Given the description of an element on the screen output the (x, y) to click on. 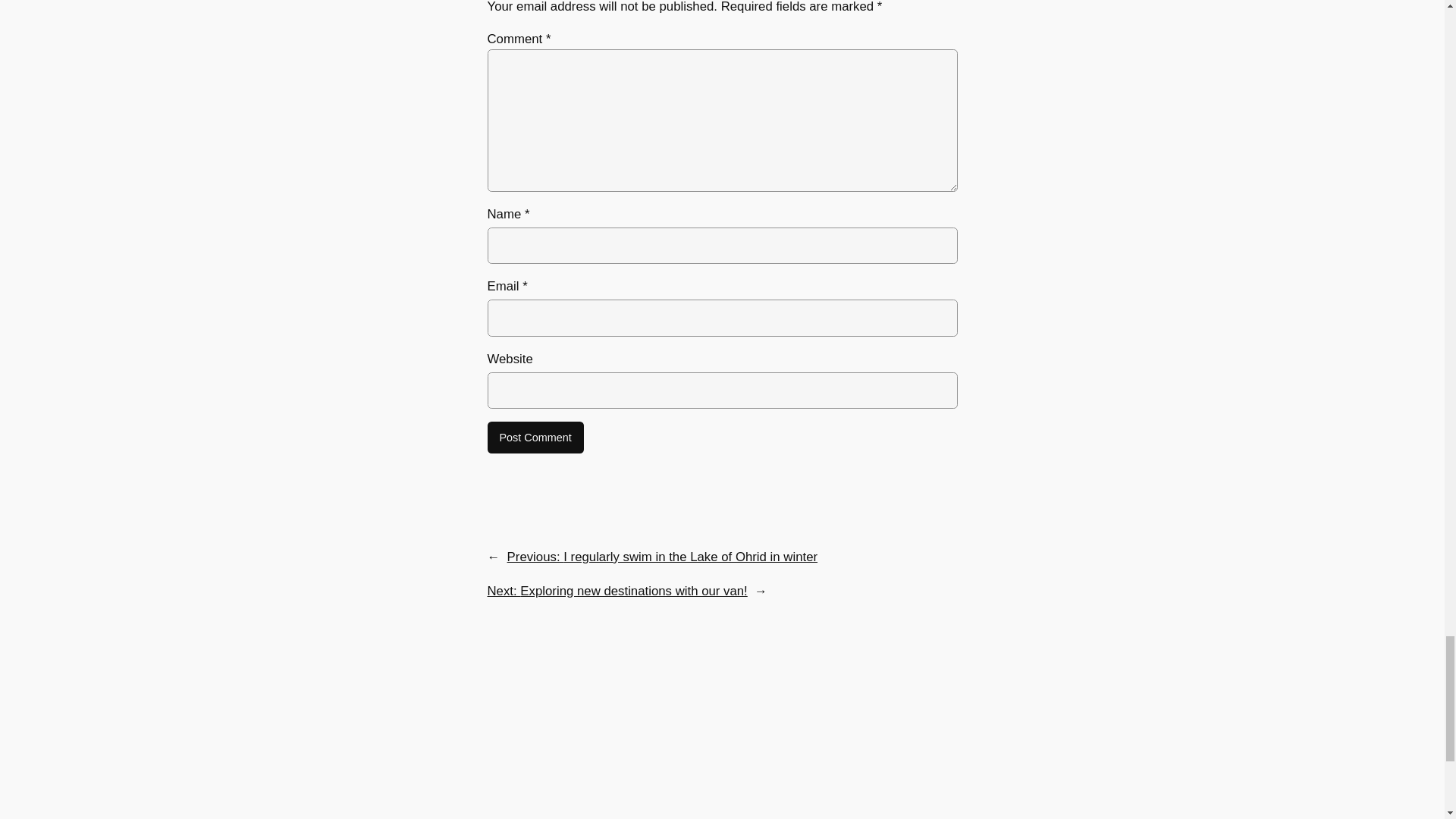
Post Comment (534, 437)
